Given the description of an element on the screen output the (x, y) to click on. 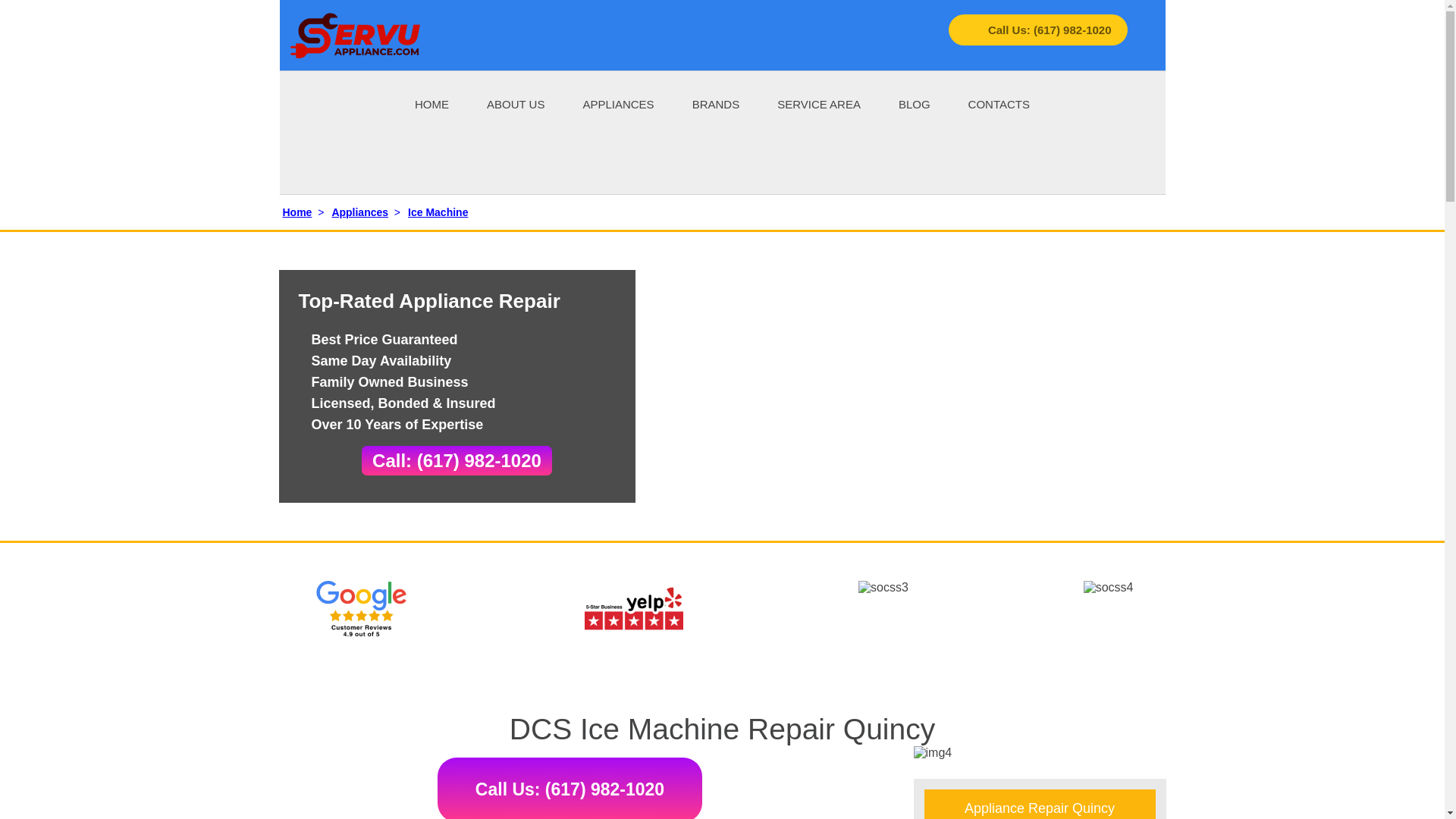
HOME (431, 103)
ABOUT US (515, 103)
BRANDS (715, 103)
APPLIANCES (617, 103)
